Given the description of an element on the screen output the (x, y) to click on. 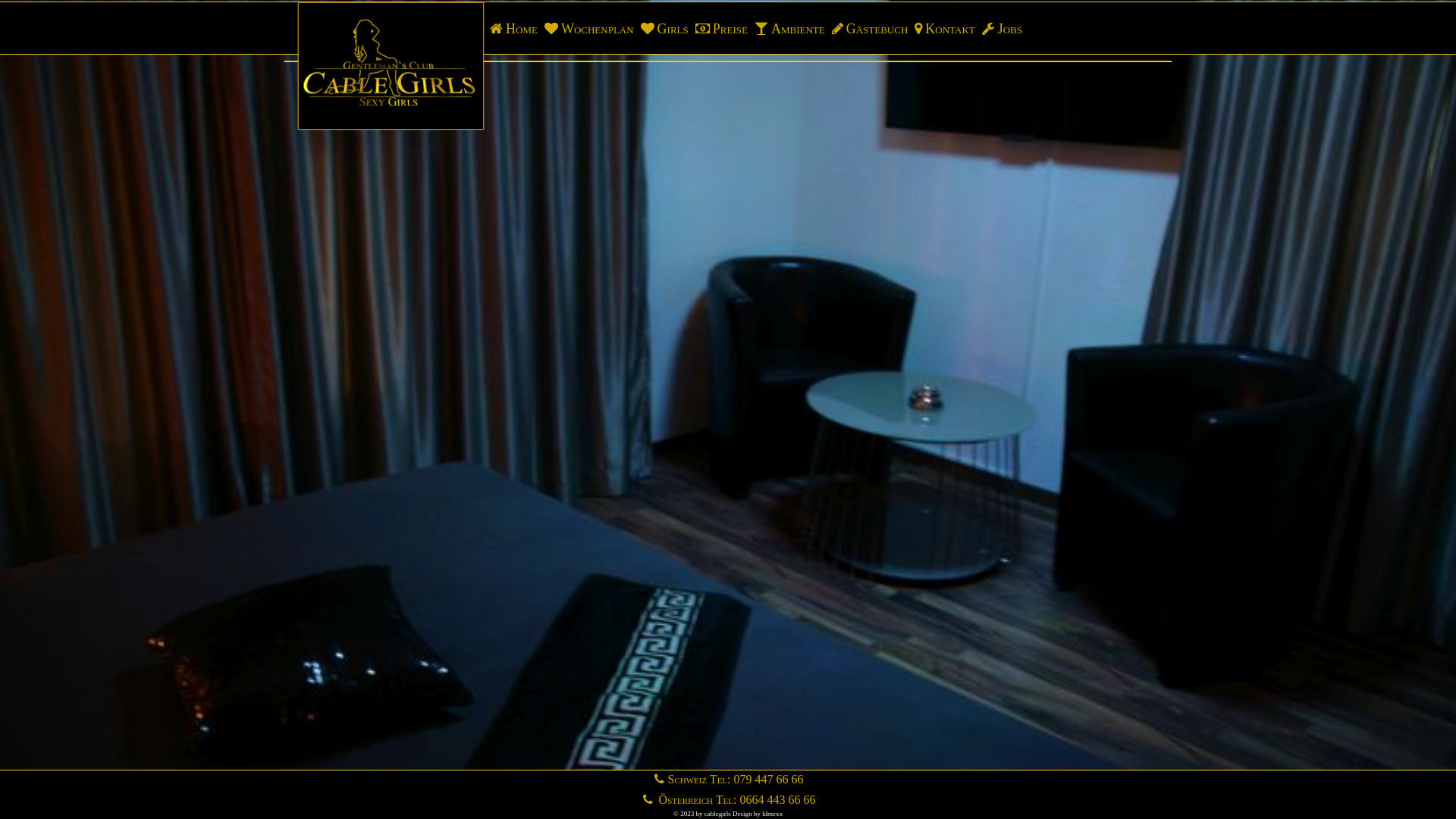
Schweiz Tel: 079 447 66 66 Element type: text (727, 778)
Ambiente Element type: text (788, 28)
Kontakt Element type: text (943, 28)
Wochenplan Element type: text (587, 28)
Home Element type: text (512, 28)
Jobs Element type: text (1000, 28)
Girls Element type: text (663, 28)
Preise Element type: text (719, 28)
